Given the description of an element on the screen output the (x, y) to click on. 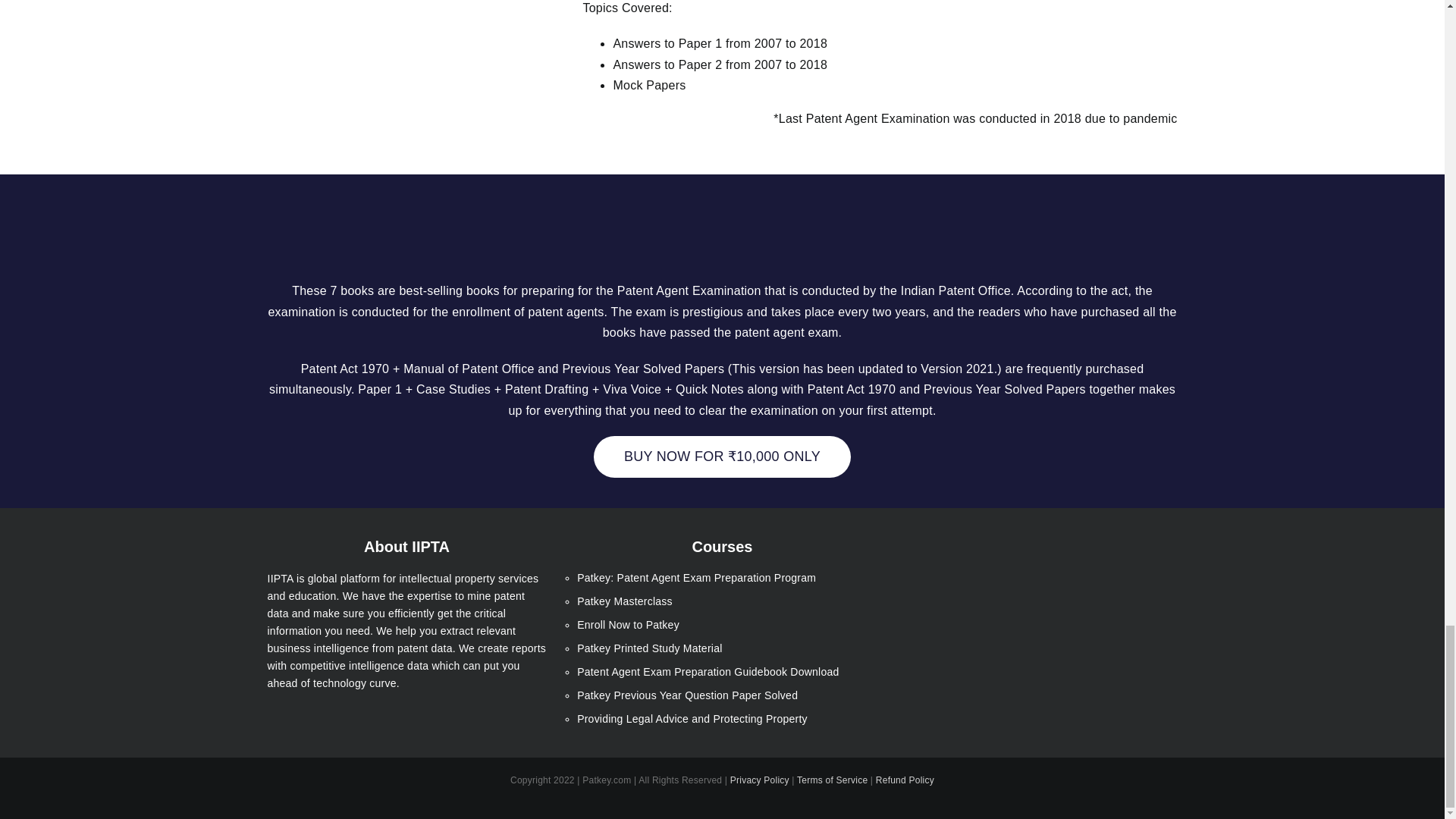
Patkey Previous Year Question Paper Solved (721, 695)
Patkey Printed Study Material (721, 648)
Patent Agent Exam Preparation Guidebook Download (721, 672)
Patkey Masterclass (721, 601)
Patkey: Patent Agent Exam Preparation Program (721, 578)
Enroll Now to Patkey (721, 625)
